Given the description of an element on the screen output the (x, y) to click on. 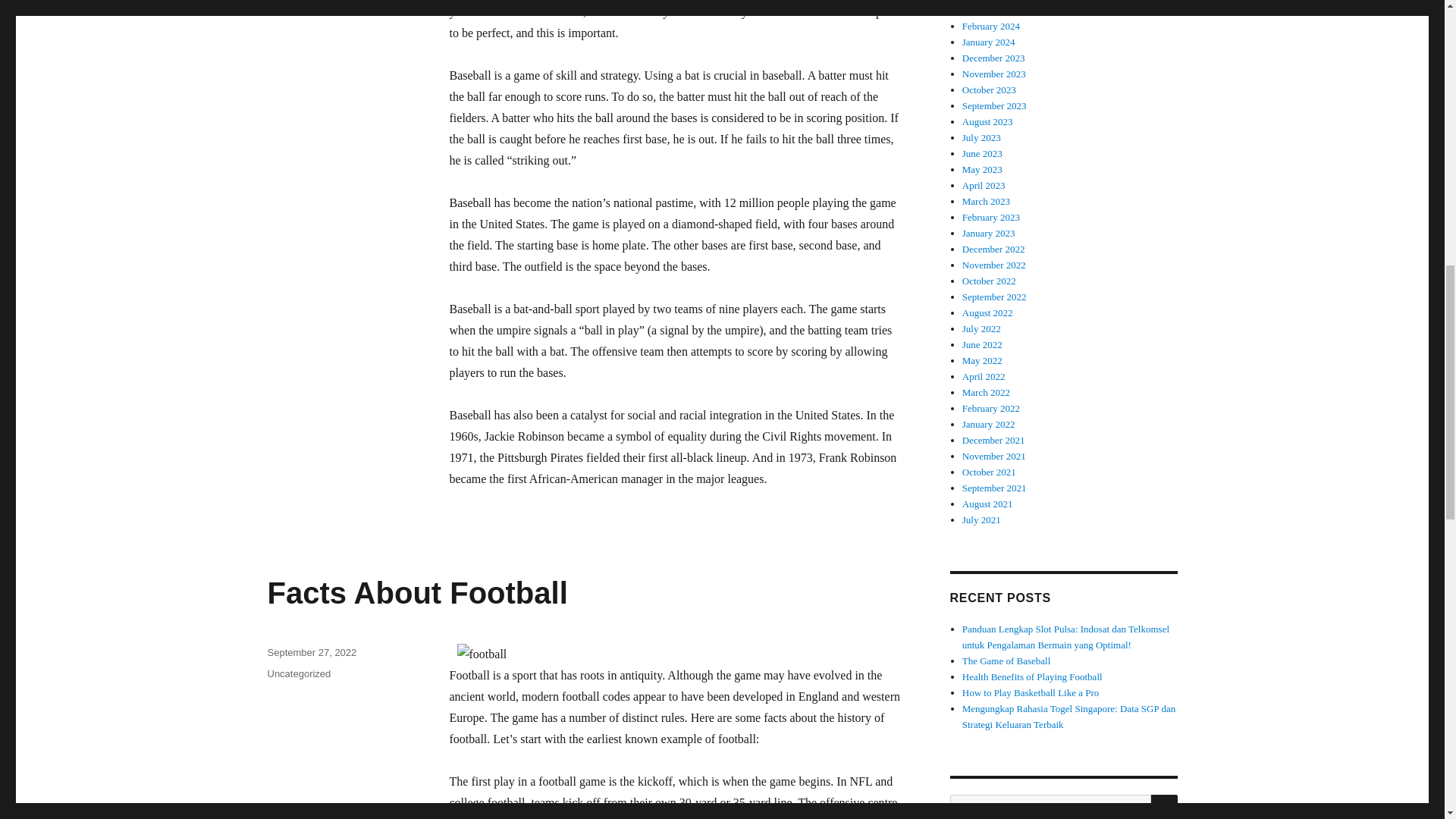
September 27, 2022 (311, 652)
Facts About Football (416, 592)
Uncategorized (298, 673)
